Given the description of an element on the screen output the (x, y) to click on. 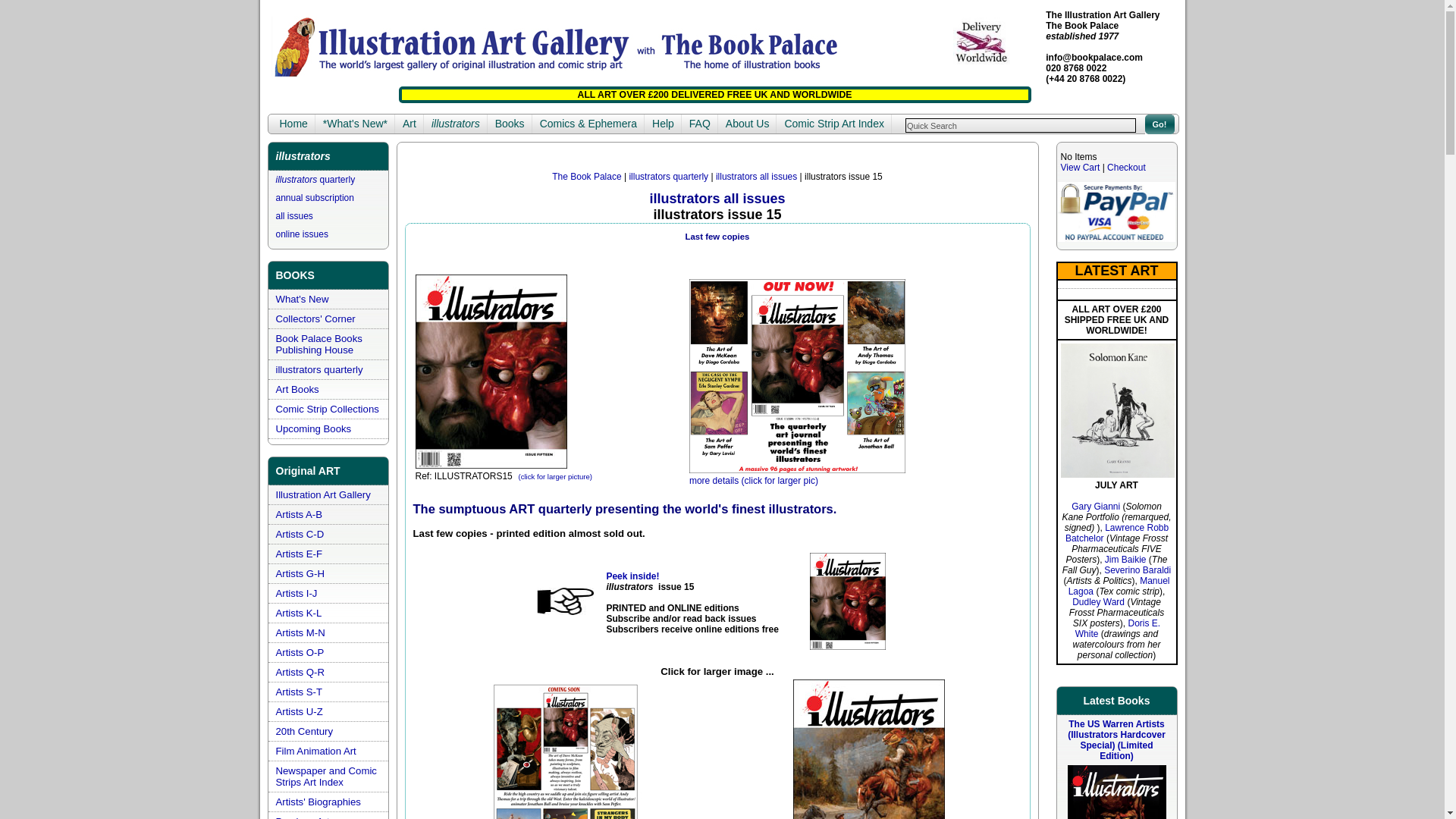
new art, books, comics and ephemera in stock and latest news (354, 123)
illustrators (455, 123)
Artists U-Z (299, 711)
Help (663, 123)
illustrators quarterly (315, 179)
Artists E-F (299, 553)
Quick Search (1020, 124)
Go! (1159, 124)
Artists G-H (300, 573)
About us (747, 123)
Our latest art, books and comics (302, 298)
Help (663, 123)
FAQ (699, 123)
What's New (302, 298)
Quick Search (1020, 124)
